Given the description of an element on the screen output the (x, y) to click on. 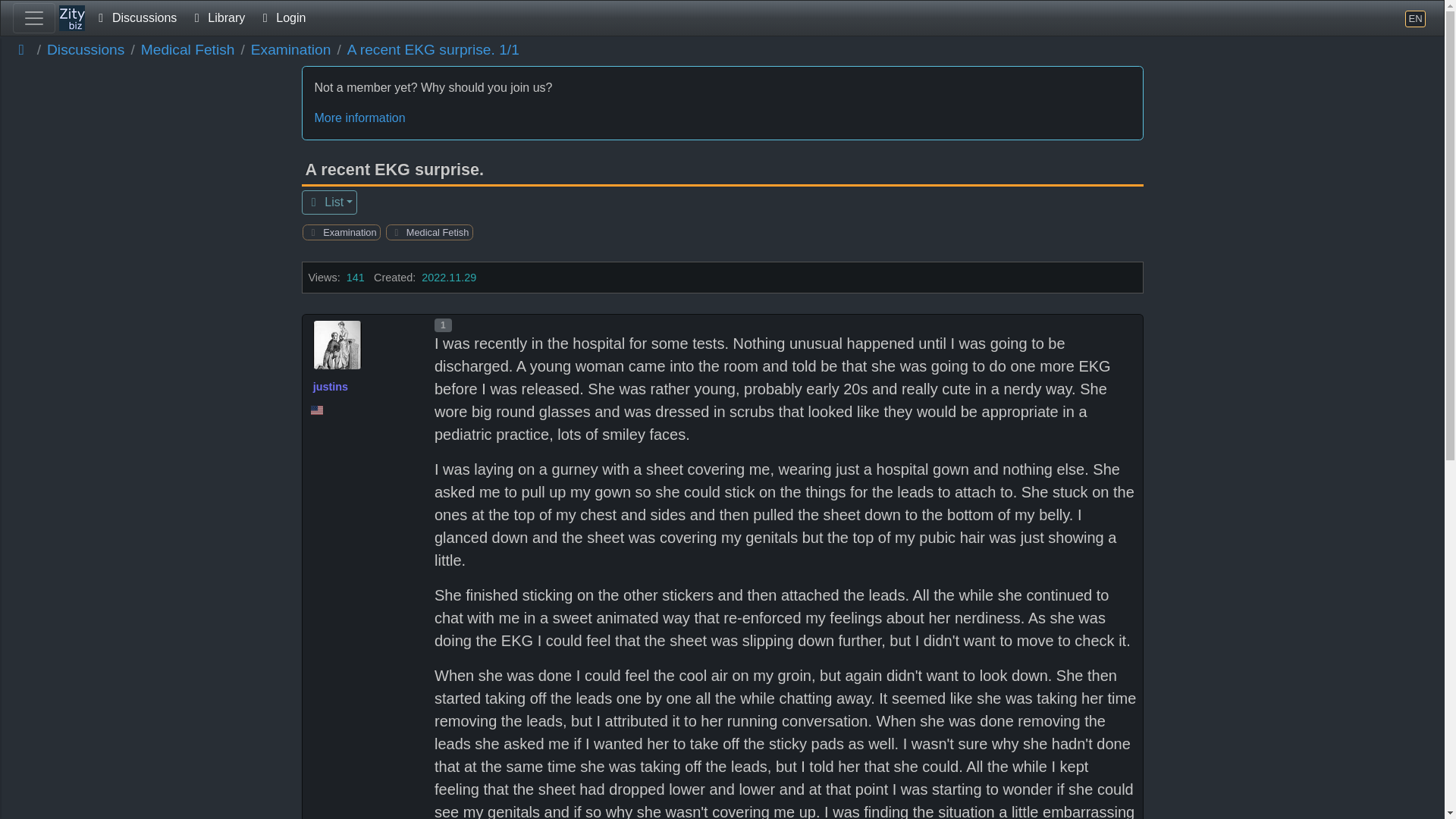
Examination (346, 232)
Language section (1415, 18)
Examination (290, 50)
Login (280, 18)
Medical Fetish (187, 50)
More information (721, 117)
Discussions (84, 50)
Discussions (135, 18)
Medical Fetish (435, 232)
EN (1415, 18)
